Given the description of an element on the screen output the (x, y) to click on. 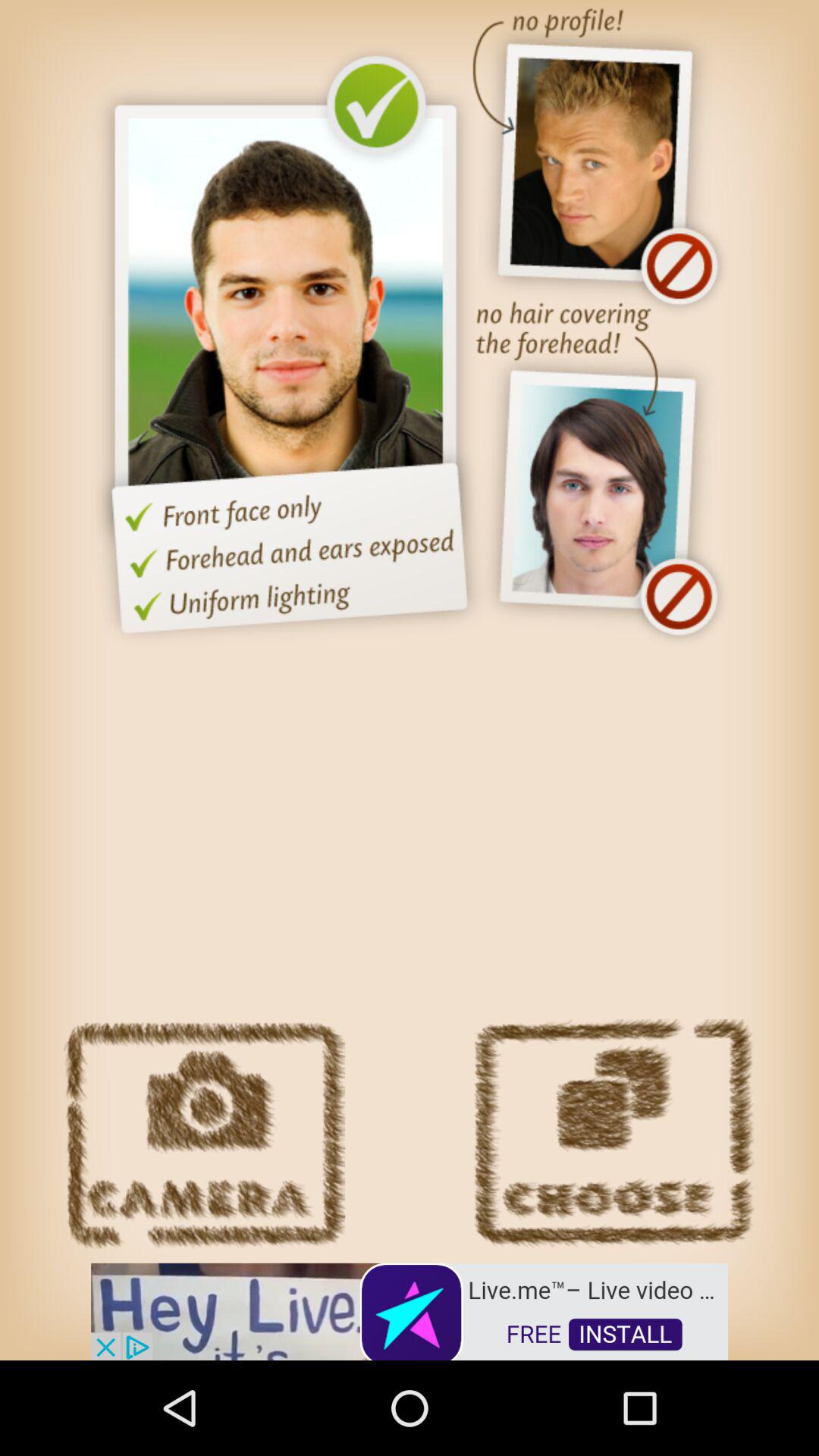
go to choose (613, 1133)
